Given the description of an element on the screen output the (x, y) to click on. 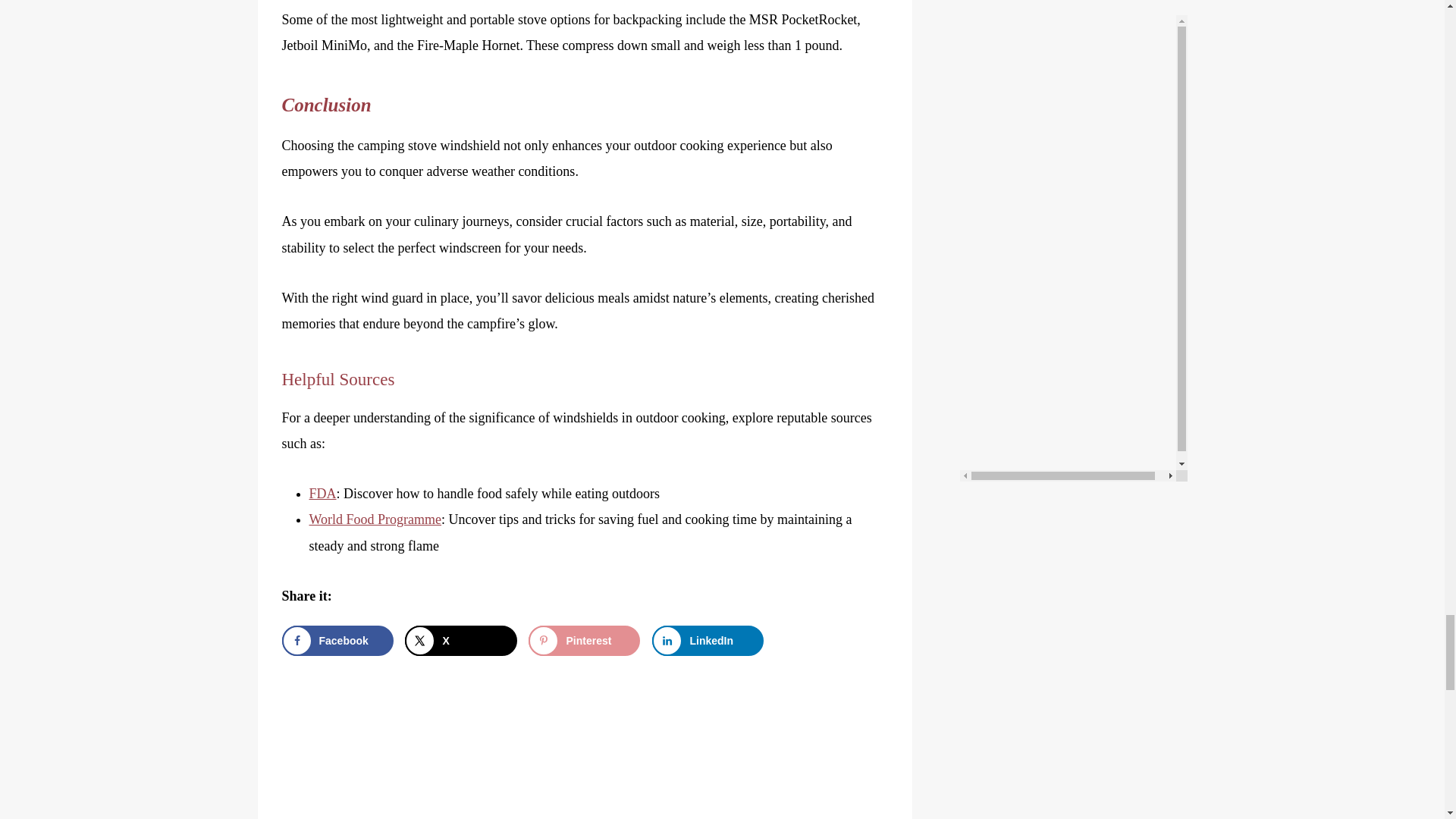
Share on Facebook (337, 640)
Share on X (460, 640)
Save to Pinterest (584, 640)
Share on LinkedIn (707, 640)
